Given the description of an element on the screen output the (x, y) to click on. 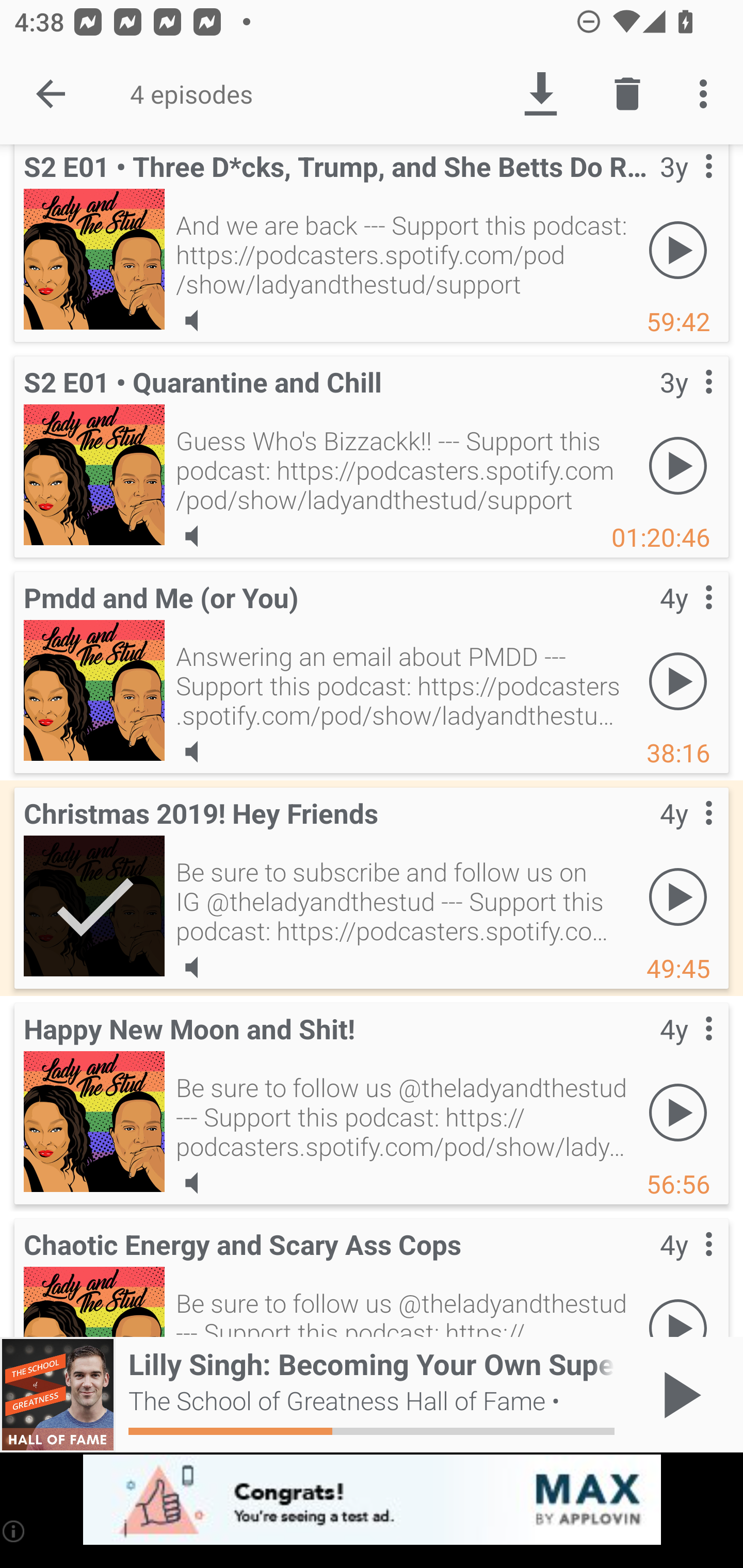
Done (50, 93)
Download (540, 93)
Delete episode (626, 93)
More options (706, 93)
Contextual menu (685, 186)
Three D*cks, Trump, and She Betts Do Right! (93, 258)
Play (677, 250)
Contextual menu (685, 402)
Quarantine and Chill (93, 474)
Play (677, 465)
Contextual menu (685, 617)
Pmdd and Me (or You) (93, 689)
Play (677, 681)
Contextual menu (685, 833)
Christmas 2019! Hey Friends (93, 905)
Play (677, 896)
Contextual menu (685, 1048)
Happy New Moon and Shit! (93, 1120)
Play (677, 1112)
Contextual menu (685, 1265)
Play (677, 1307)
Play / Pause (677, 1394)
app-monetization (371, 1500)
(i) (14, 1531)
